Given the description of an element on the screen output the (x, y) to click on. 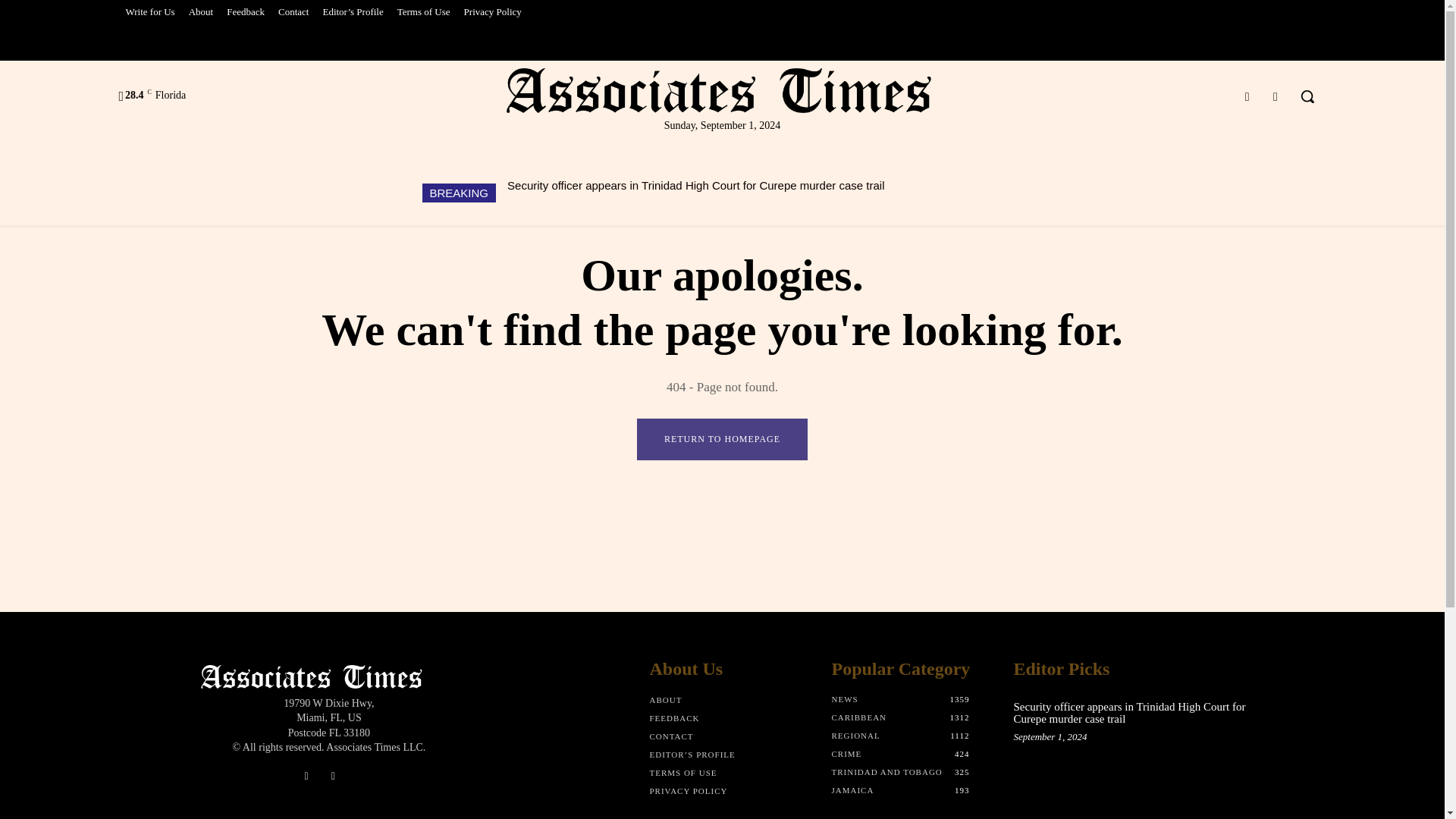
Twitter (1275, 96)
Facebook (1246, 96)
